Given the description of an element on the screen output the (x, y) to click on. 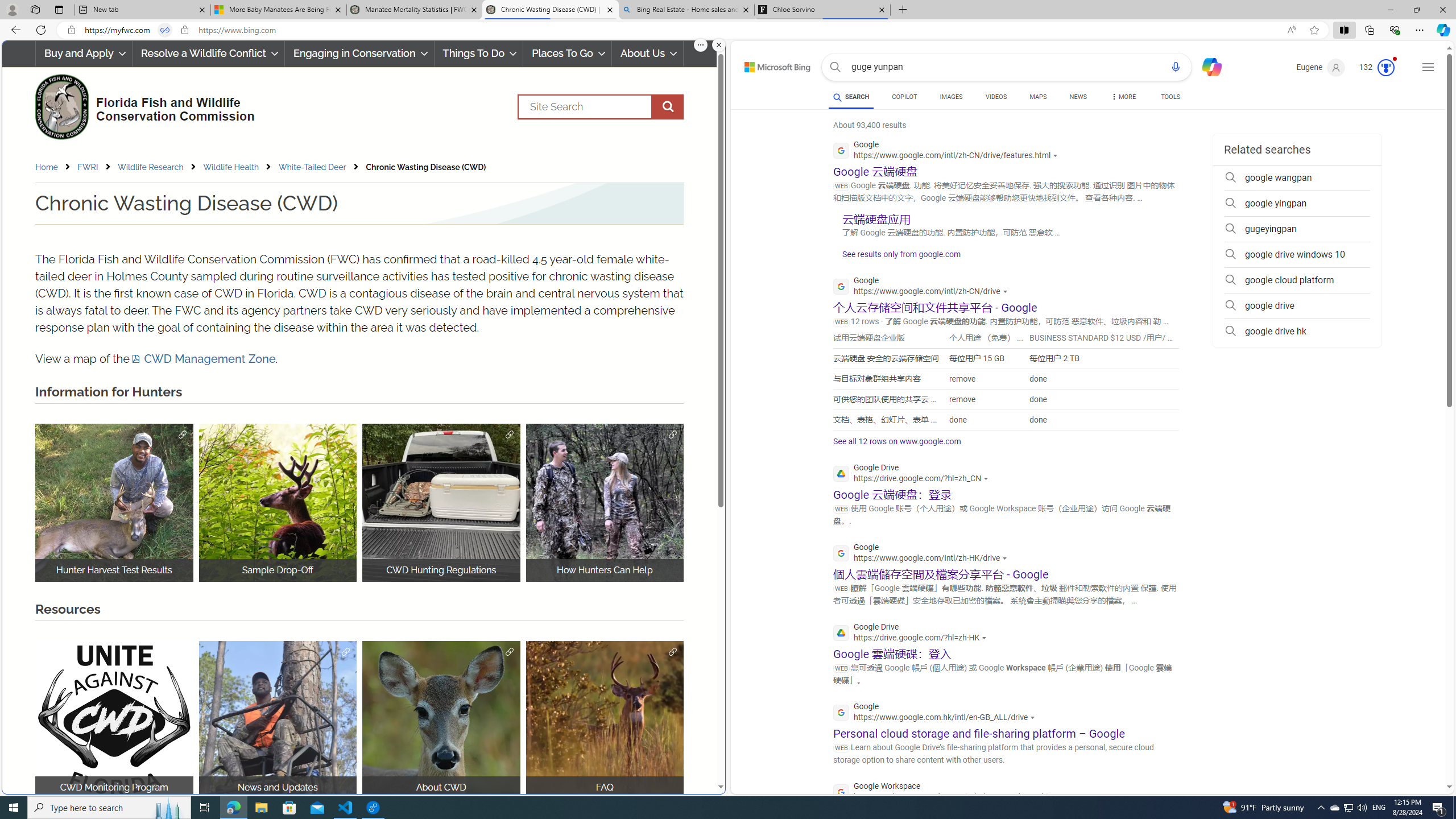
How Hunters Can Help Joe Budd WMA (604, 502)
About Us (647, 53)
logo for chronic wasting disease program (113, 720)
google drive windows 10 (1297, 254)
Chronic Wasting Disease (CWD) | FWC (550, 9)
Eugene (1320, 67)
NEWS (1078, 96)
CWD Management Zone (203, 359)
Microsoft Rewards 123 (1377, 67)
white-tailed deer (440, 720)
Bing Real Estate - Home sales and rental listings (685, 9)
